Given the description of an element on the screen output the (x, y) to click on. 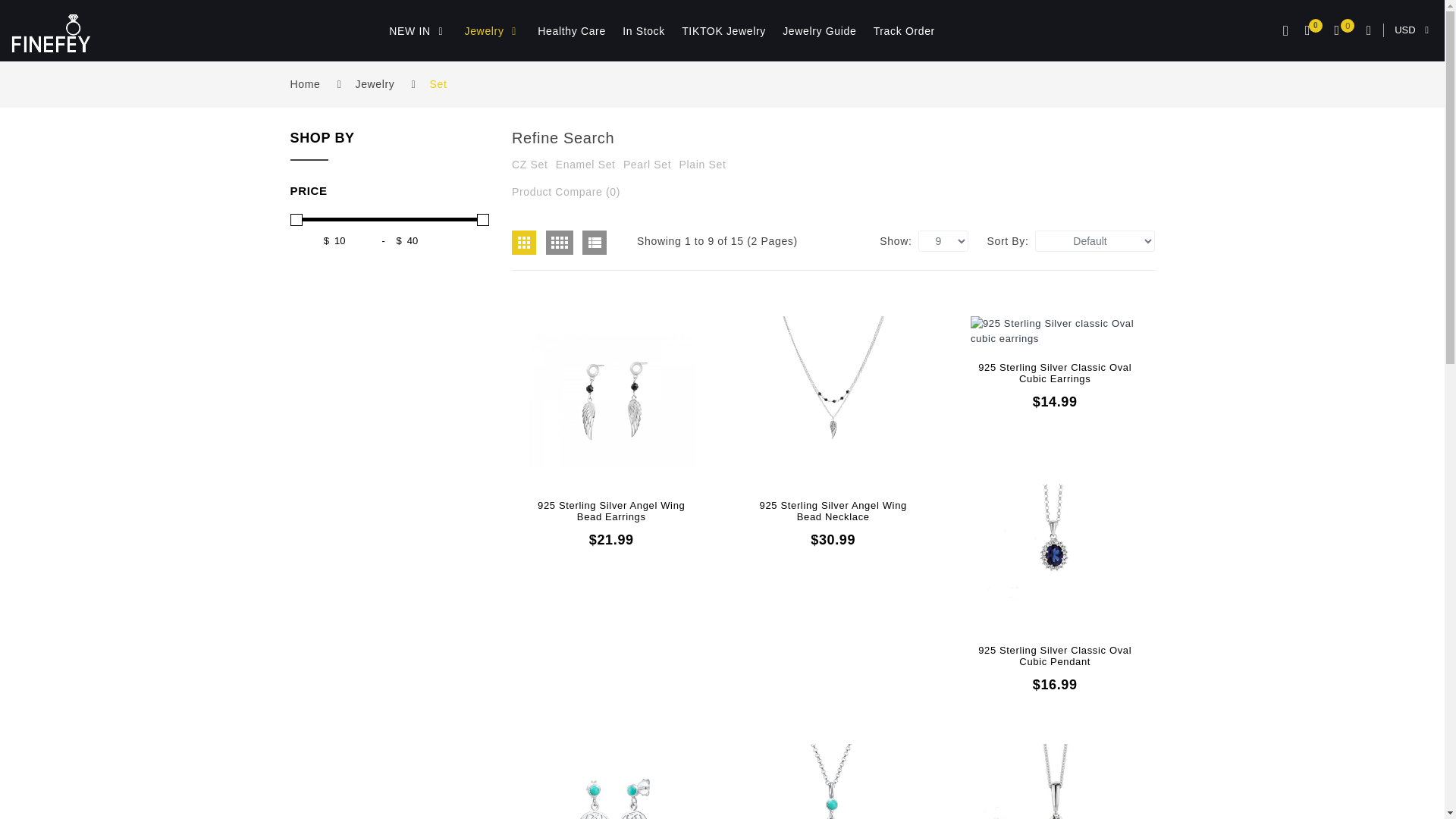
NEW IN (417, 30)
Jewelry (493, 30)
925 Sterling Silver angel wing bead necklace (832, 400)
925 Sterling Silver classic oval cubic pendant  (1054, 545)
10 (352, 240)
0 (1310, 31)
925 Sterling Silver classic Oval cubic earrings (1054, 331)
40 (425, 240)
925 Sterling Silver angel wing bead earrings (611, 400)
